Given the description of an element on the screen output the (x, y) to click on. 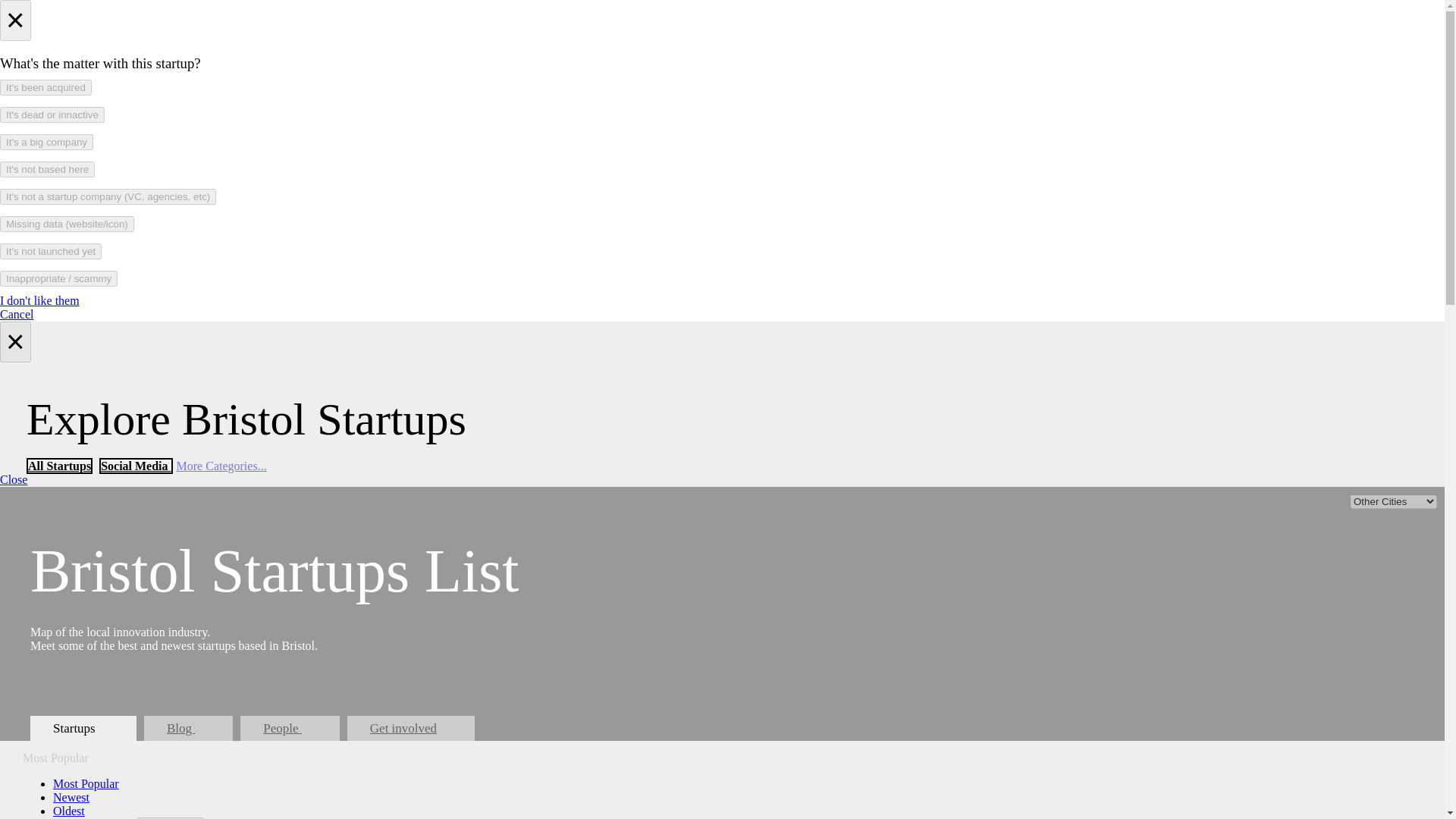
It's been acquired (45, 87)
It's dead or innactive (52, 114)
Social Media (135, 465)
It's not launched yet (50, 251)
I don't like them (40, 300)
Close (13, 479)
It's a big company (46, 141)
It's not based here (47, 169)
More Categories... (221, 465)
Cancel (16, 314)
